Given the description of an element on the screen output the (x, y) to click on. 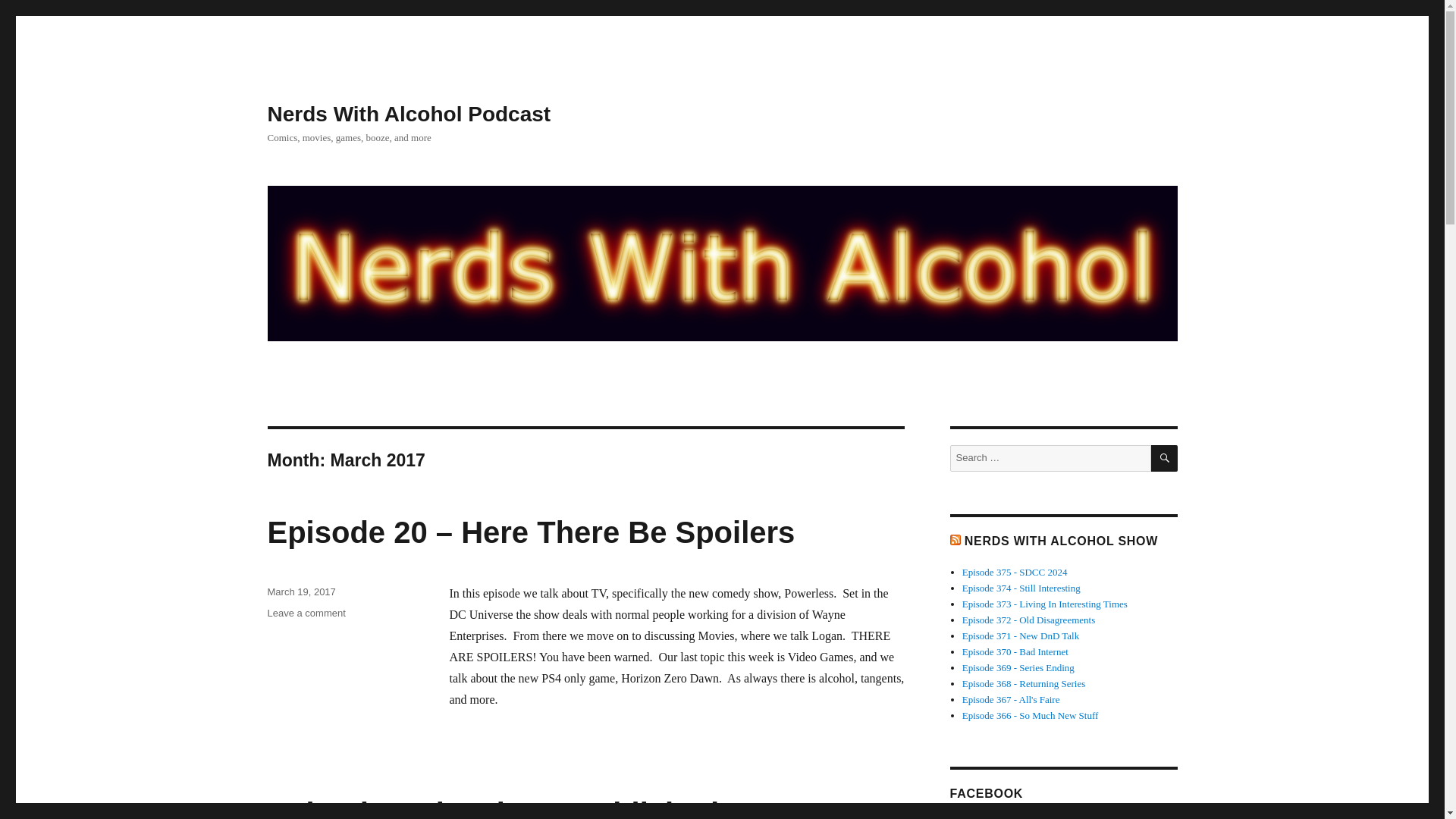
Episode 366 - So Much New Stuff (1030, 715)
Nerds With Alcohol Podcast (408, 114)
Episode 373 - Living In Interesting Times (1044, 603)
Episode 368 - Returning Series (1023, 683)
Episode 372 - Old Disagreements (1028, 619)
Episode 369 - Series Ending (1018, 667)
Episode 371 - New DnD Talk (1020, 635)
Episode 370 - Bad Internet (1015, 651)
Episode 367 - All's Faire (1010, 699)
SEARCH (1164, 458)
NERDS WITH ALCOHOL SHOW (1060, 540)
March 19, 2017 (300, 591)
Episode 375 - SDCC 2024 (1014, 572)
Episode 19 has been published! (497, 807)
Episode 374 - Still Interesting (1021, 587)
